Given the description of an element on the screen output the (x, y) to click on. 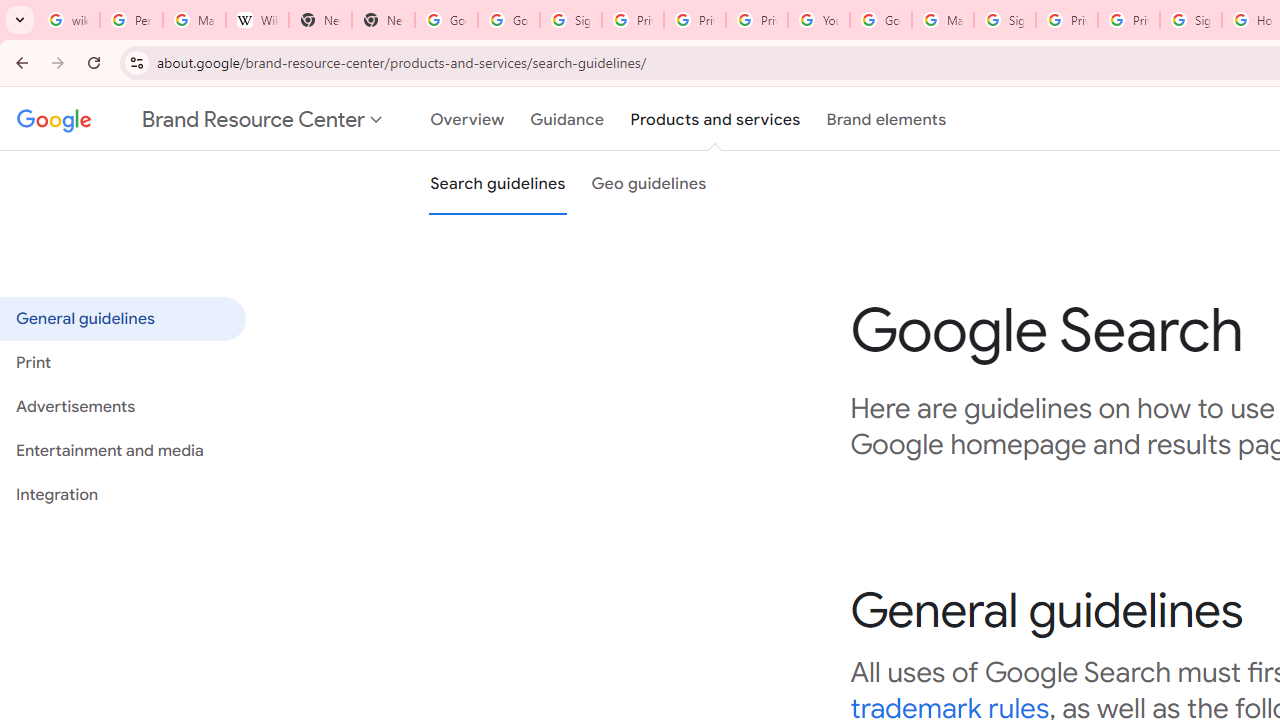
Sign in - Google Accounts (1004, 20)
Sign in - Google Accounts (570, 20)
Personalization & Google Search results - Google Search Help (130, 20)
Overview (467, 119)
